Given the description of an element on the screen output the (x, y) to click on. 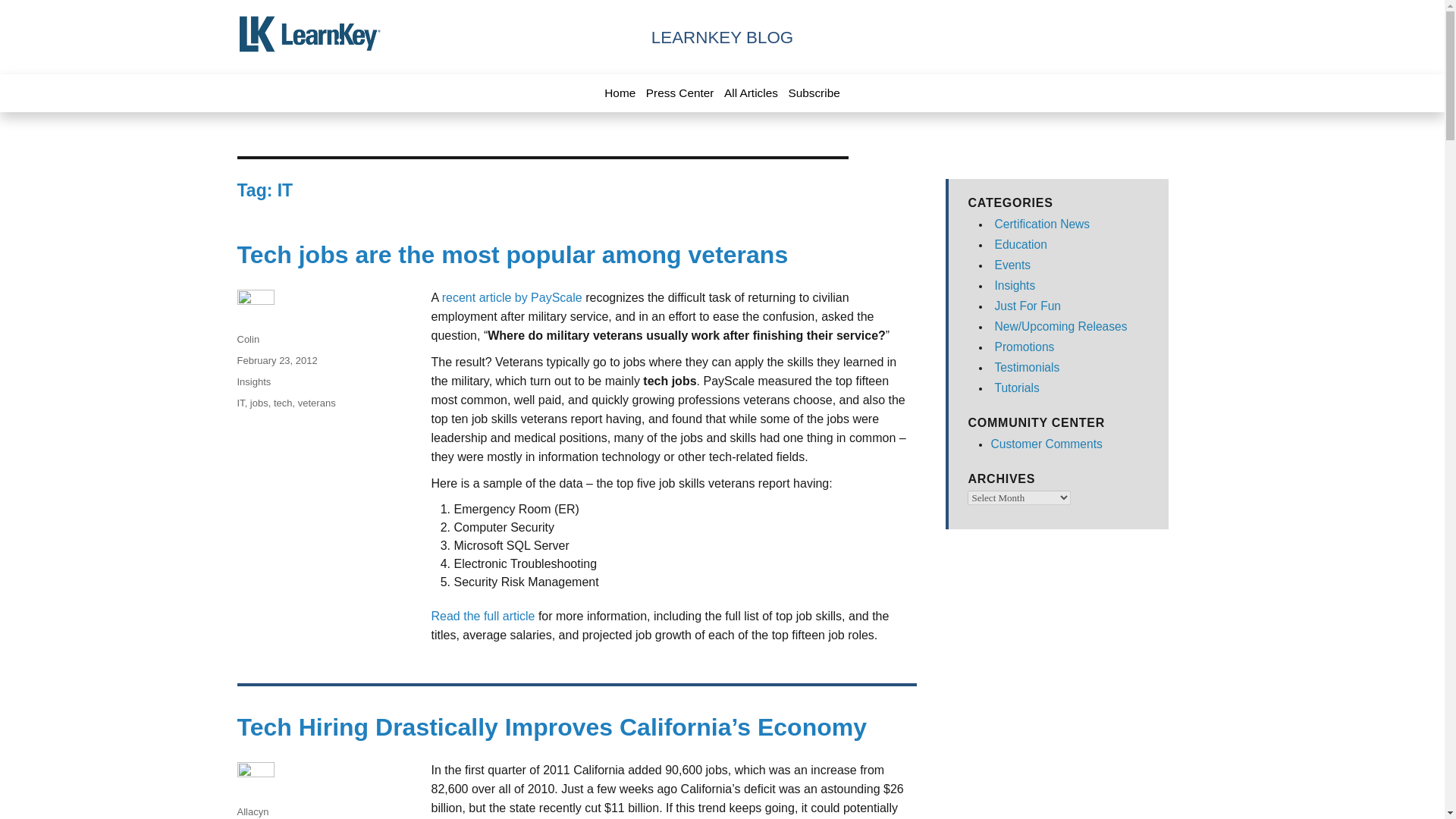
LEARNKEY BLOG (721, 36)
Allacyn (251, 811)
February 23, 2012 (276, 360)
IT (239, 402)
Read the full article (482, 615)
Colin (247, 338)
Tech jobs are the most popular among veterans (511, 254)
jobs (258, 402)
Insights (252, 381)
veterans (317, 402)
Press Center (680, 92)
All Articles (750, 92)
Subscribe (813, 92)
Home (619, 92)
recent article by PayScale (512, 297)
